Given the description of an element on the screen output the (x, y) to click on. 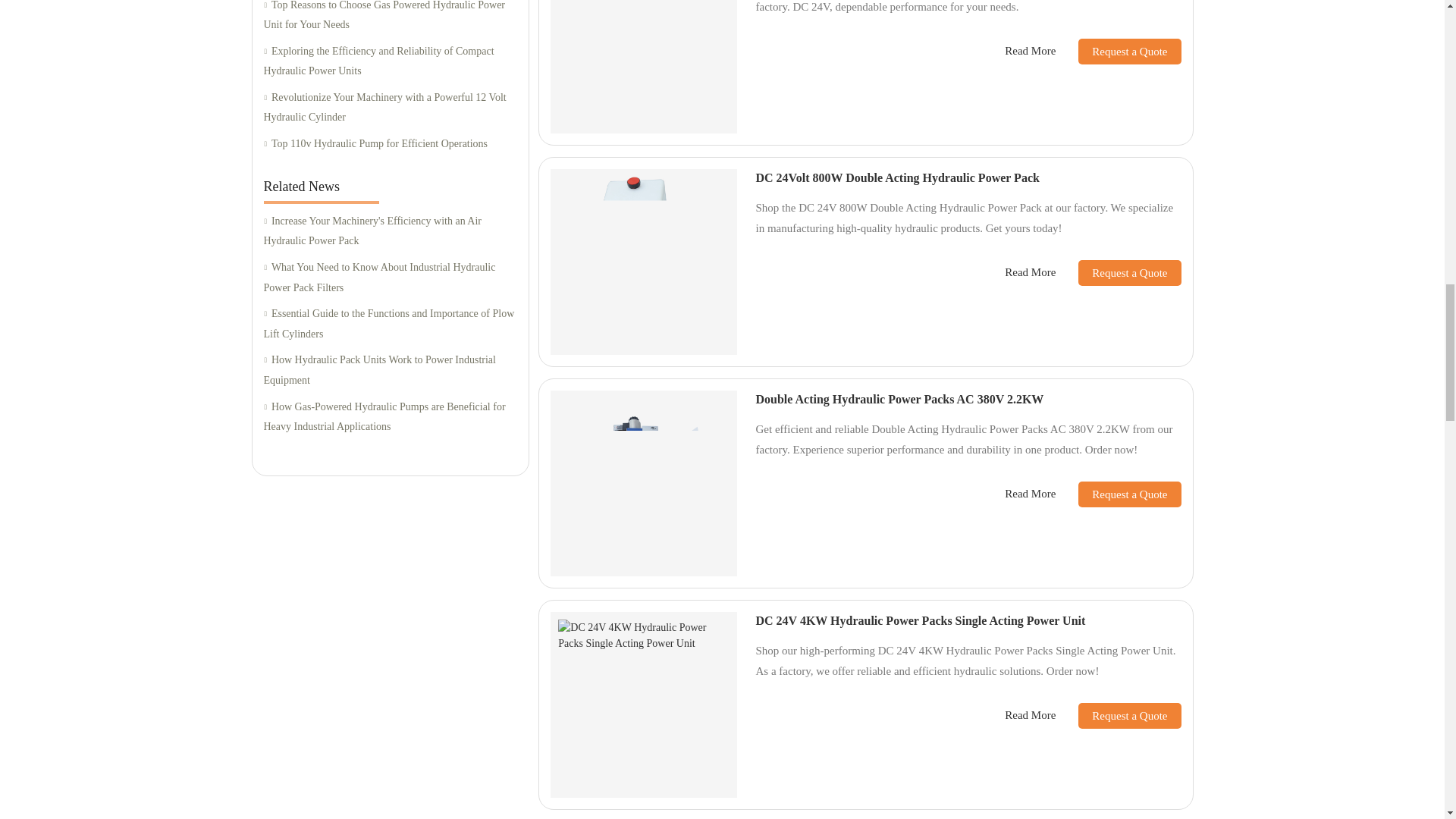
Top 110v Hydraulic Pump for Efficient Operations (389, 144)
How Hydraulic Pack Units Work to Power Industrial Equipment (389, 370)
